Given the description of an element on the screen output the (x, y) to click on. 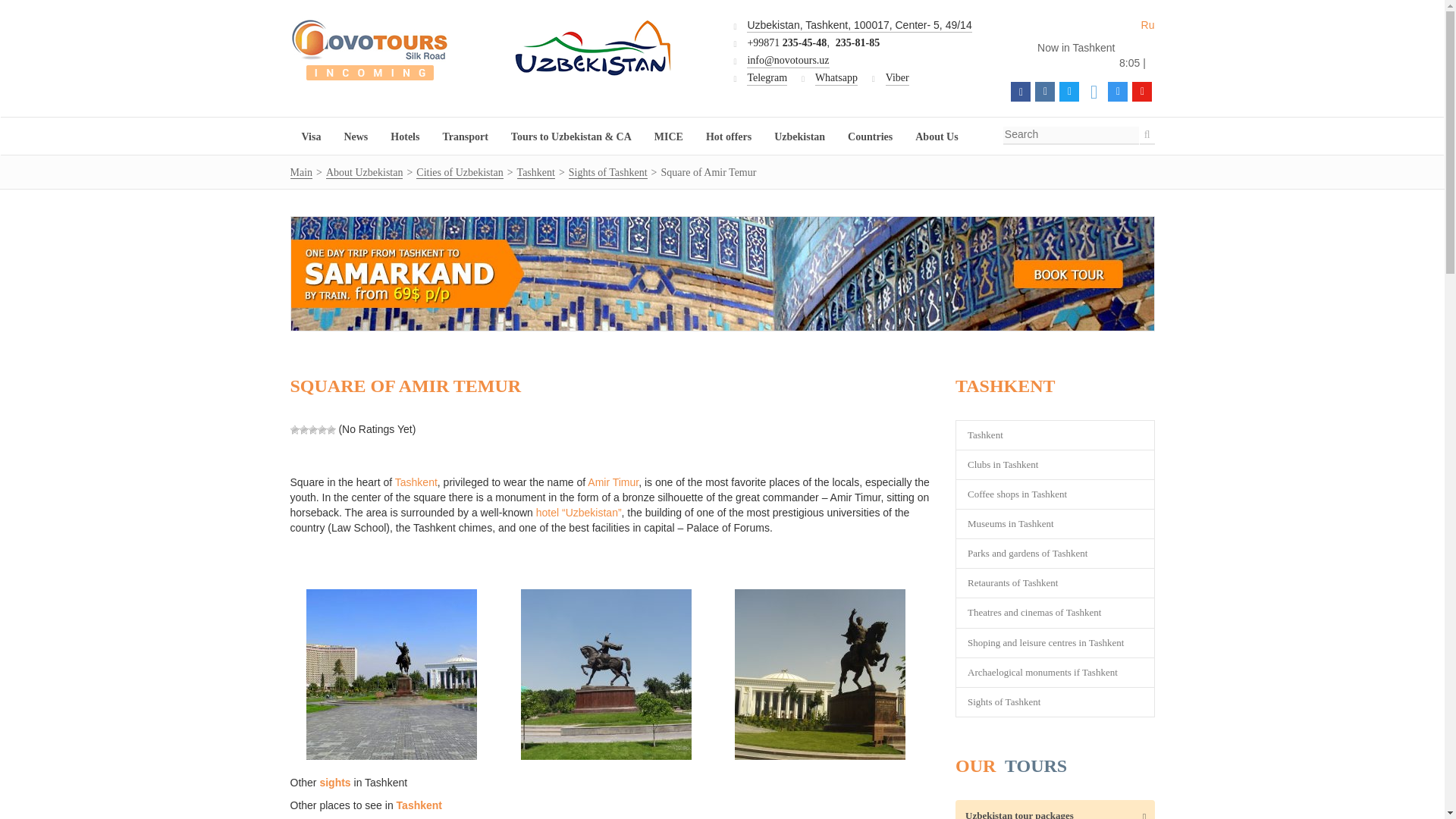
Countries (869, 137)
Sights of Tashkent (608, 173)
Ru (1141, 24)
Go to the About Uzbekistan category archives. (364, 173)
Tashkent (535, 173)
News (354, 137)
Go to the Cities of Uzbekistan category archives. (459, 173)
MICE (668, 137)
Visa (310, 137)
Telegram (766, 78)
Transport (464, 137)
Hotels (404, 137)
About Us (936, 137)
Cities of Uzbekistan (459, 173)
235-81-85 (857, 42)
